Given the description of an element on the screen output the (x, y) to click on. 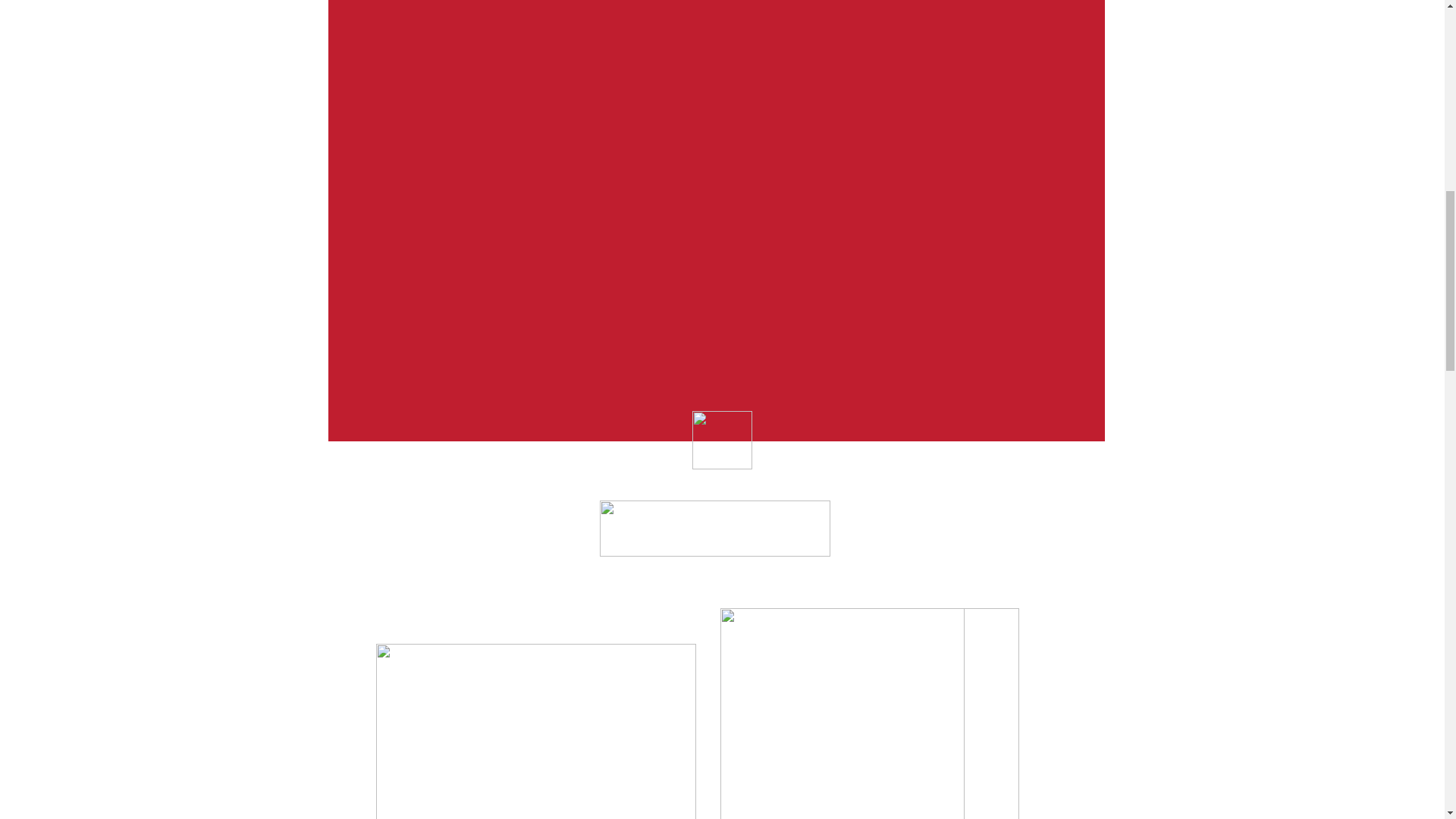
NOT Symbol.png (869, 713)
Not Wildlife Crime.png (713, 528)
NOT Symbol 2.png (841, 713)
